Given the description of an element on the screen output the (x, y) to click on. 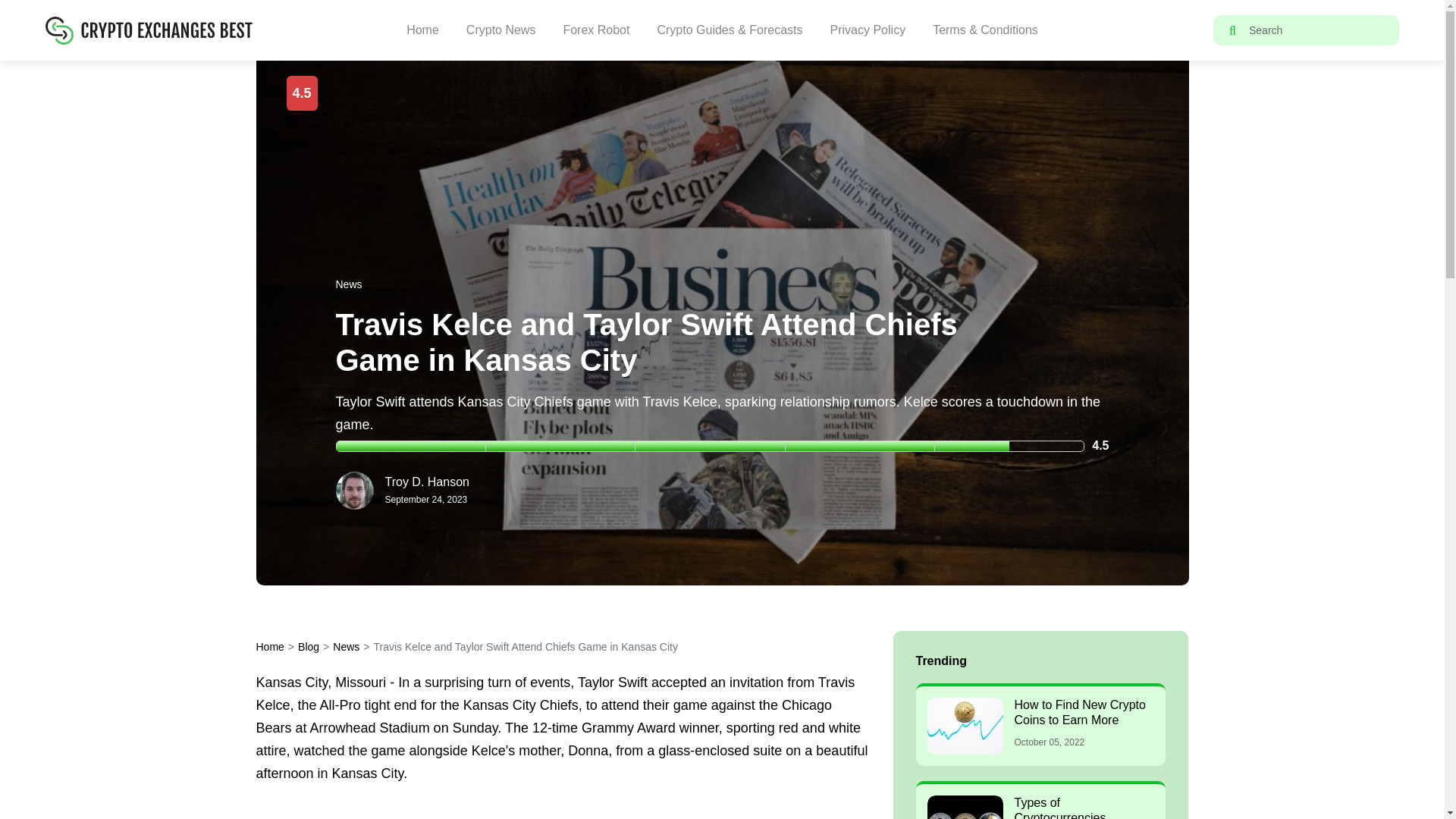
How to Find New Crypto Coins to Earn More (1079, 712)
News (347, 283)
Blog (308, 646)
Home (269, 646)
Privacy Policy (867, 30)
Crypto News (500, 30)
Forex Robot (595, 30)
News (346, 646)
Types of Cryptocurrencies Explanation for Beginners (1083, 807)
